Given the description of an element on the screen output the (x, y) to click on. 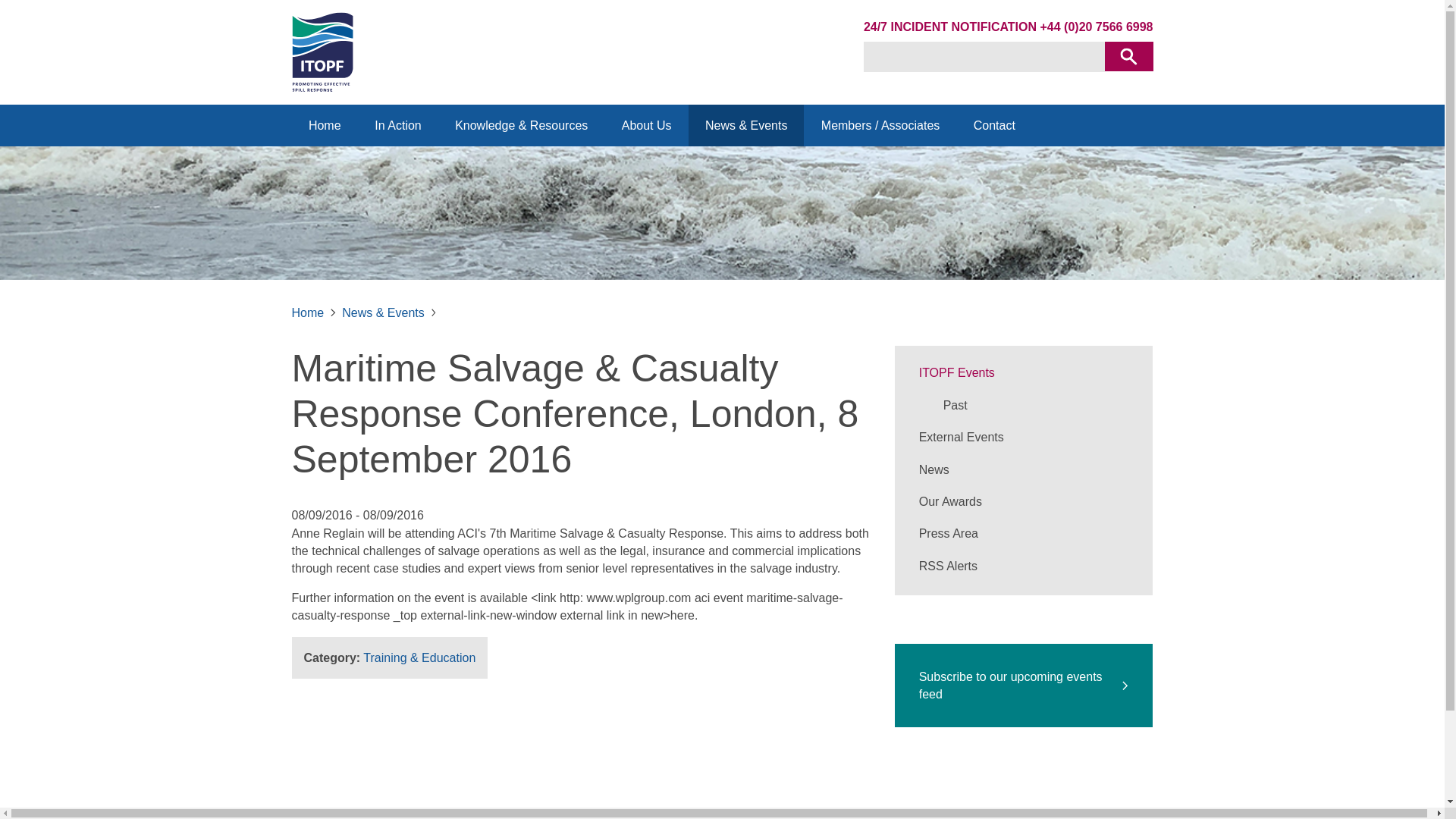
Search (1128, 56)
Home (323, 125)
In Action (398, 125)
In Action (398, 125)
Home (323, 125)
About Us (645, 125)
